Given the description of an element on the screen output the (x, y) to click on. 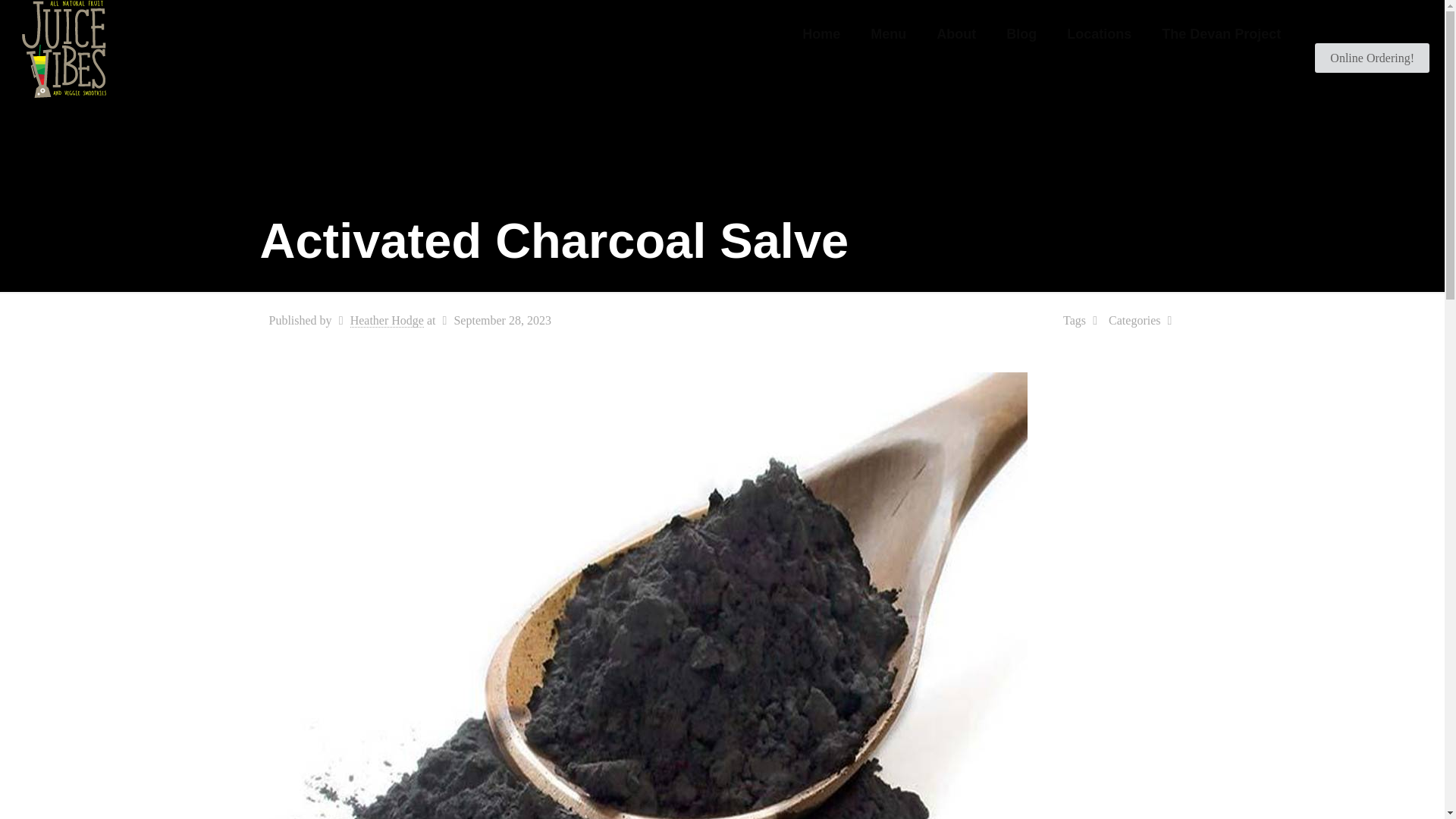
The Devan Project (1221, 33)
Locations (1099, 33)
About (956, 33)
Heather Hodge (386, 320)
Menu (888, 33)
Online Ordering! (1371, 57)
Blog (1021, 33)
Home (821, 33)
